Given the description of an element on the screen output the (x, y) to click on. 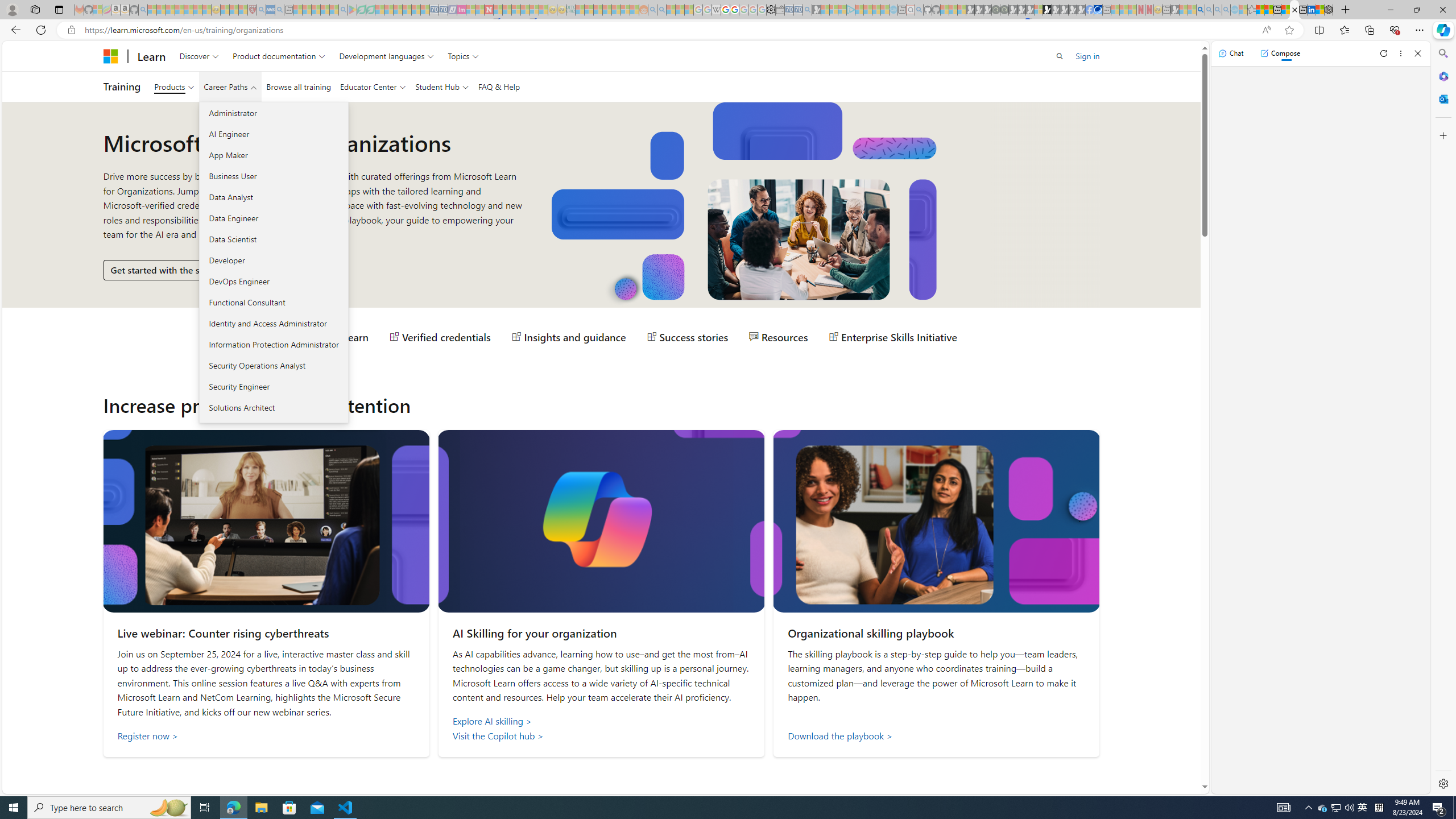
Business User (273, 175)
Data Scientist (273, 238)
Target page - Wikipedia - Sleeping (716, 9)
Get started with the skilling playbook > (192, 269)
